Given the description of an element on the screen output the (x, y) to click on. 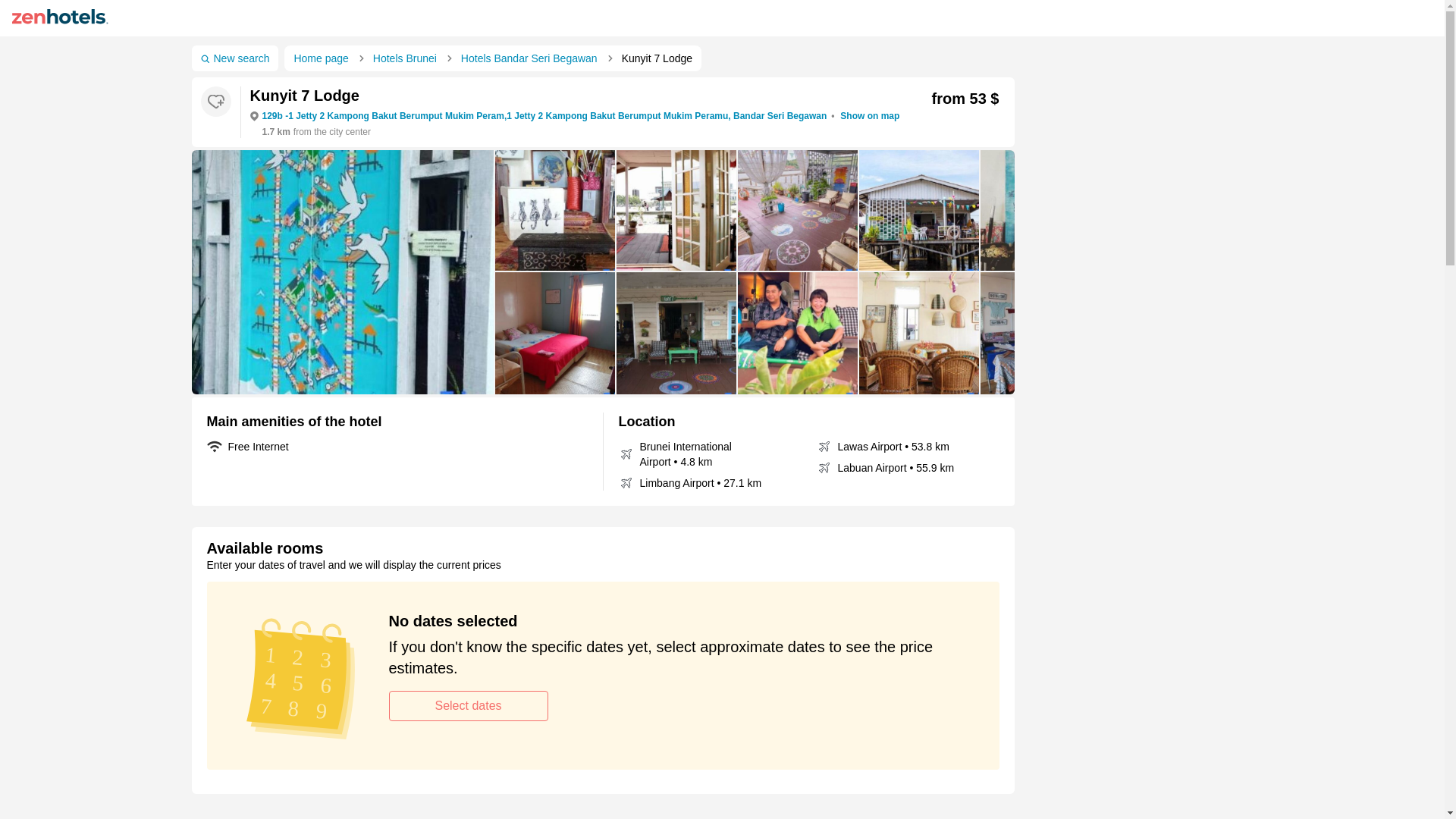
Select dates (467, 706)
New search (234, 58)
Show on map (869, 115)
Home page (322, 58)
Hotels Brunei (407, 58)
Hotels Bandar Seri Begawan (531, 58)
